Given the description of an element on the screen output the (x, y) to click on. 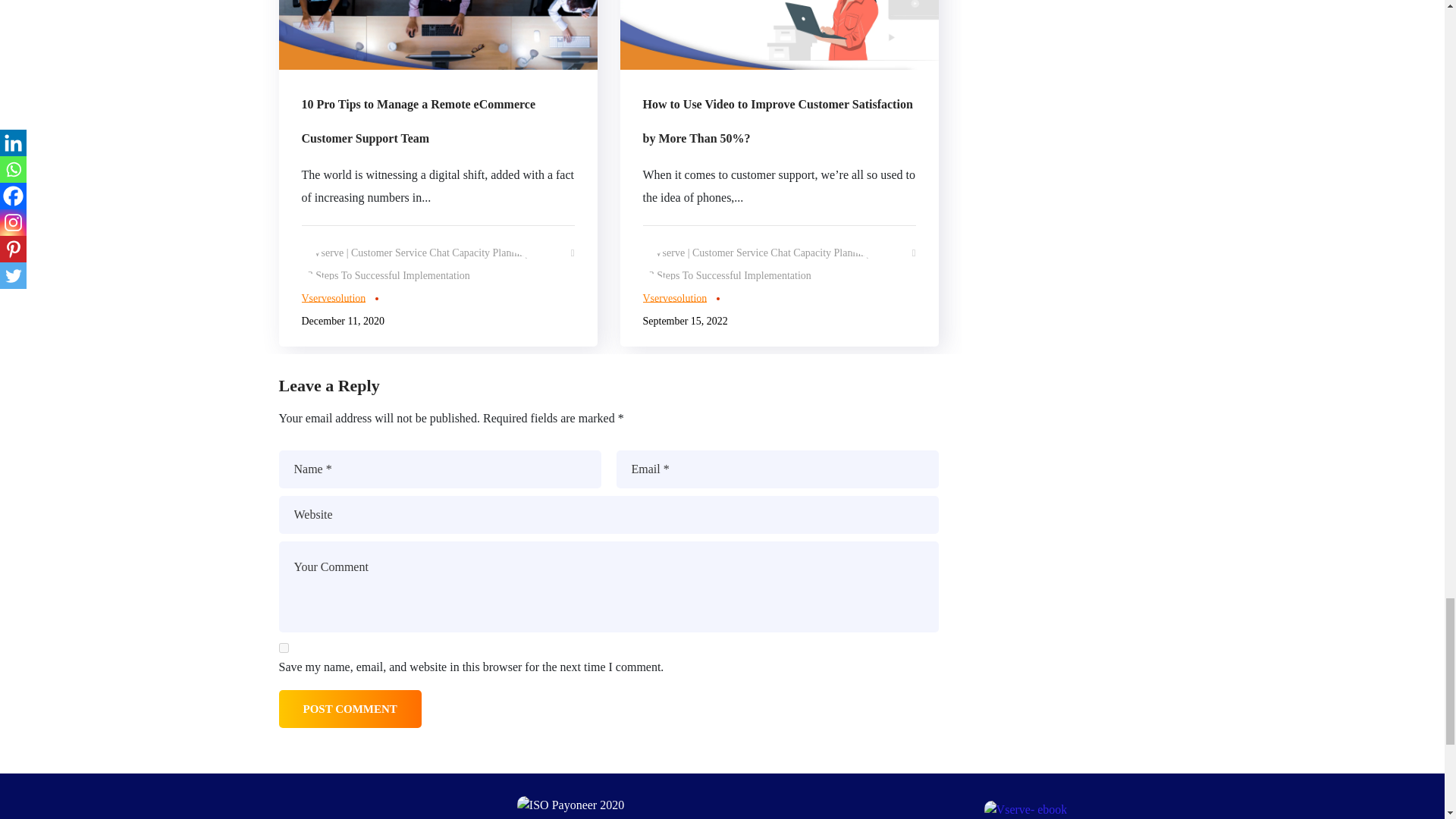
Post Comment (350, 709)
yes (283, 647)
